Given the description of an element on the screen output the (x, y) to click on. 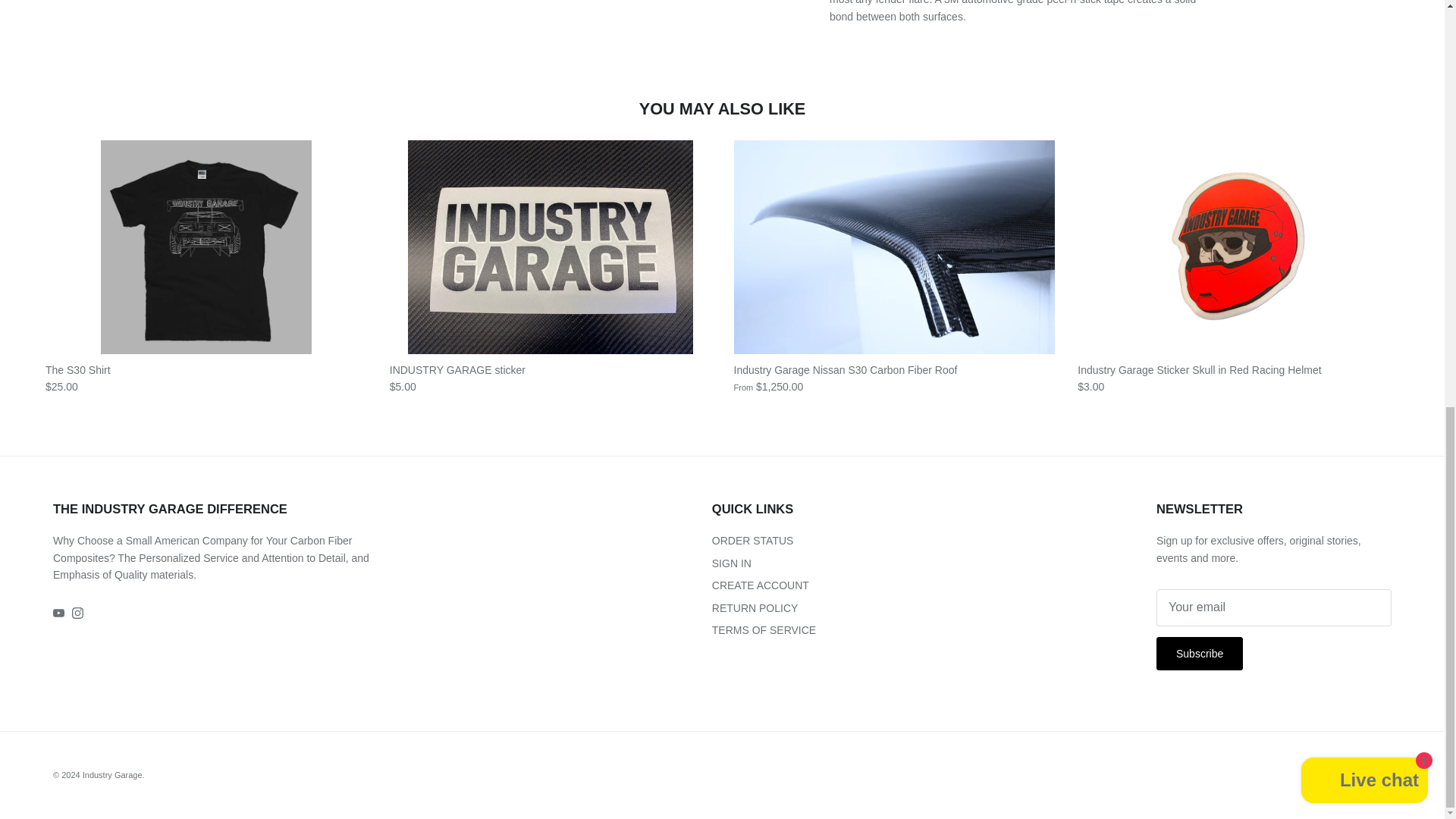
Industry Garage on Instagram (76, 613)
Industry Garage on YouTube (58, 613)
